Given the description of an element on the screen output the (x, y) to click on. 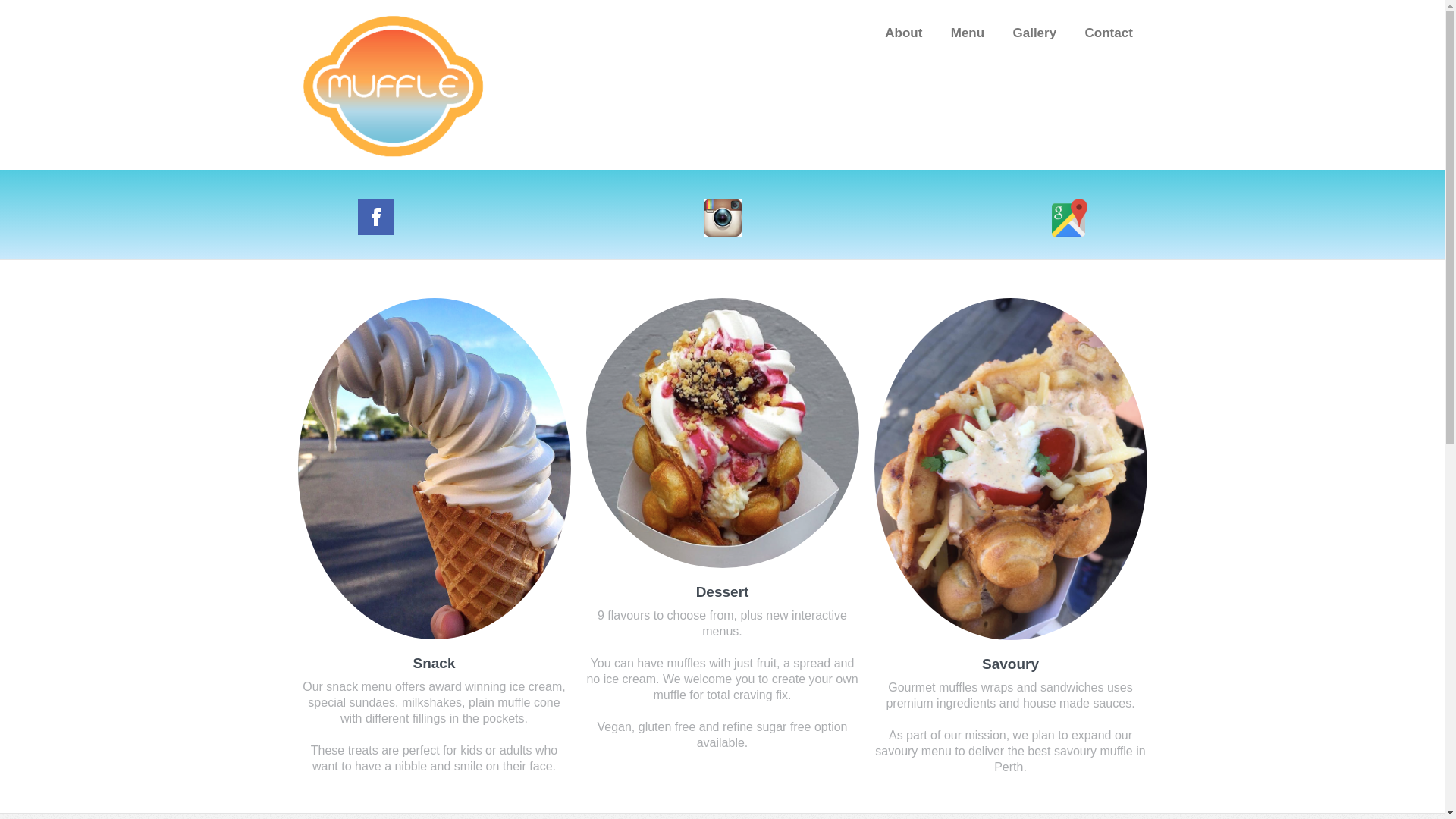
Contact Element type: text (1108, 33)
Menu Element type: text (967, 33)
About Element type: text (903, 33)
Gallery Element type: text (1034, 33)
MUFFLE Element type: hover (391, 84)
